Given the description of an element on the screen output the (x, y) to click on. 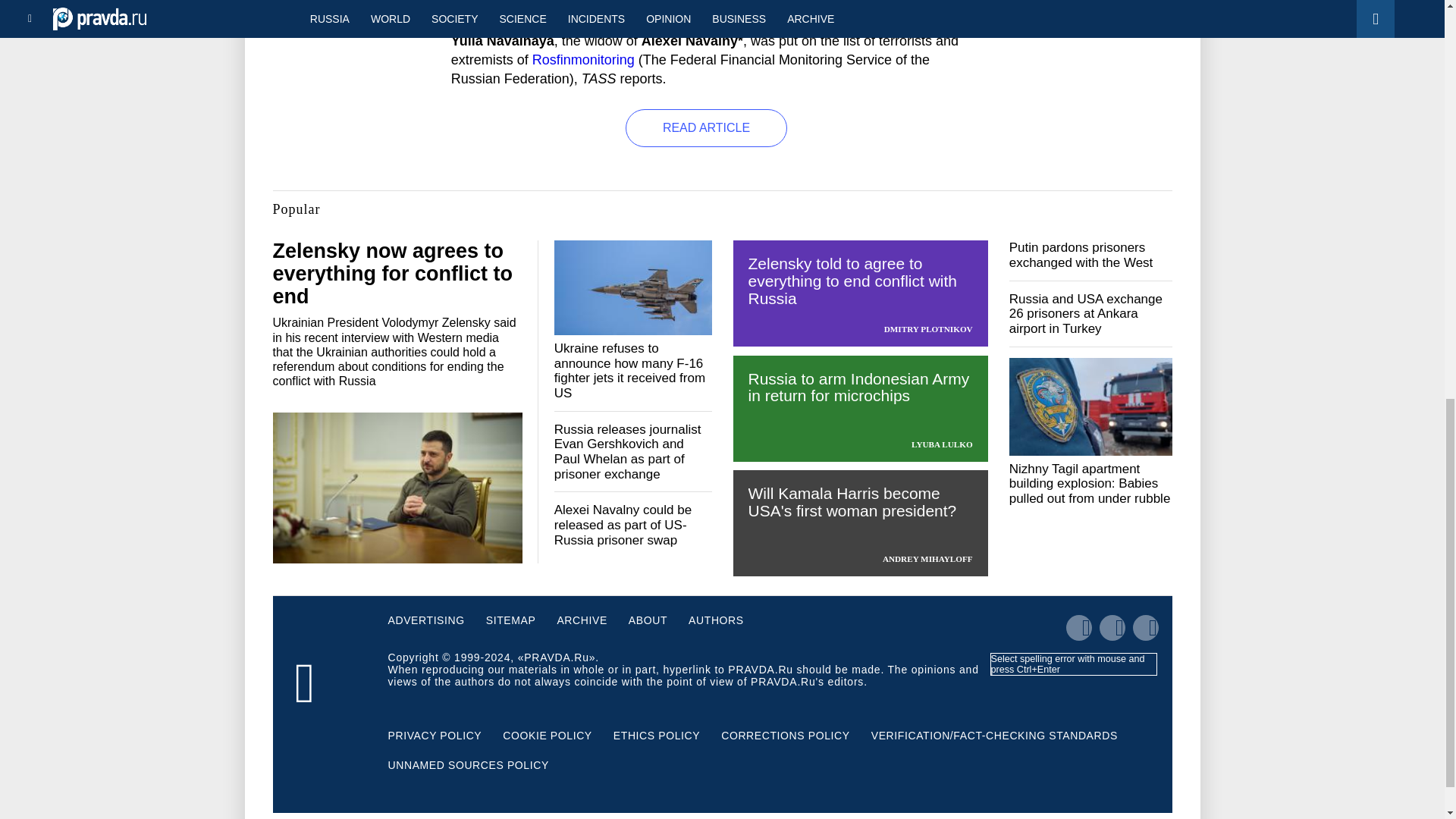
RUSSIA (468, 5)
Back to top (1418, 79)
